Given the description of an element on the screen output the (x, y) to click on. 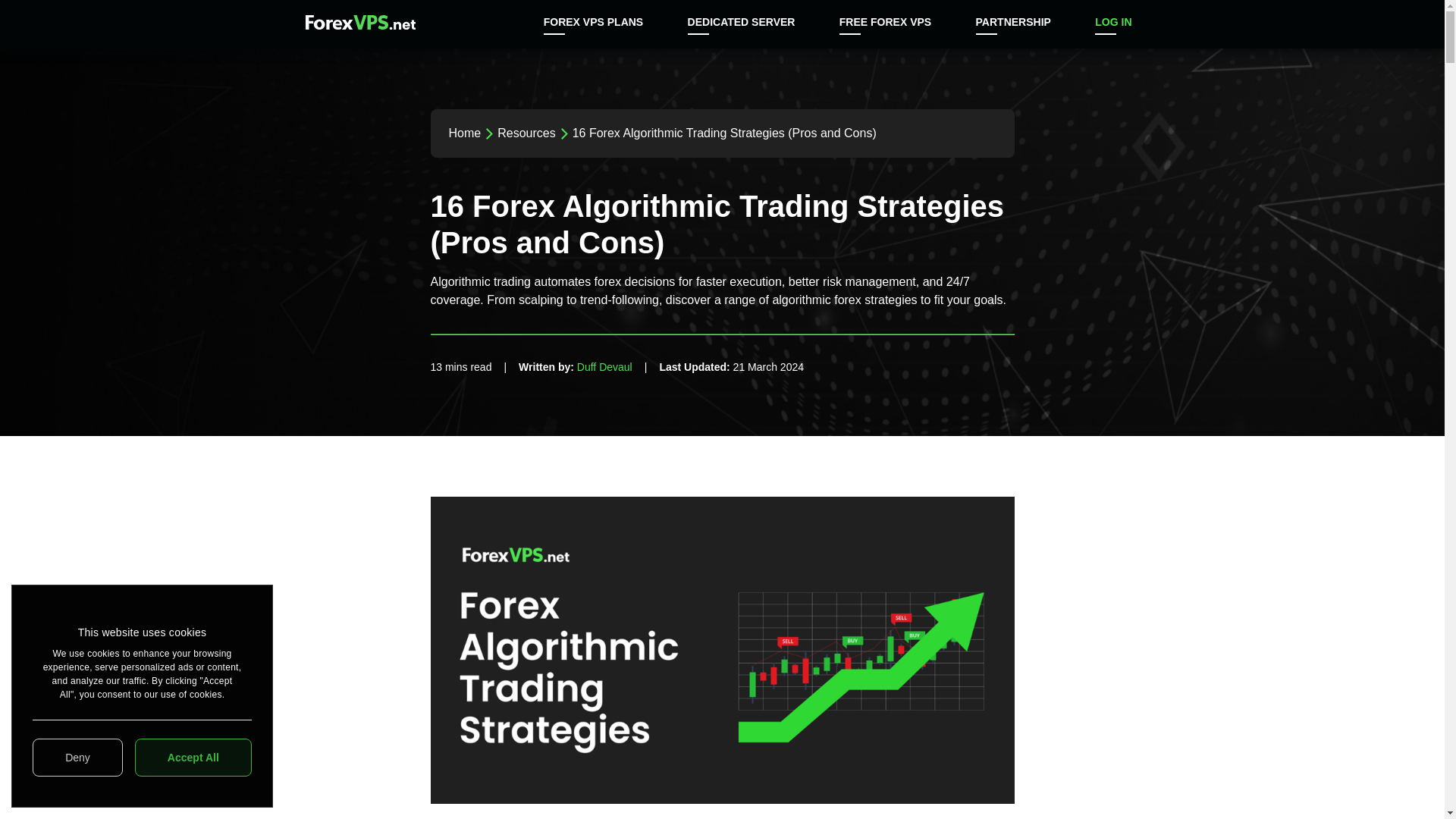
Go to ForexVPS.net (464, 132)
Go to Resources (525, 132)
LOG IN (1112, 23)
Home (464, 132)
FOREX VPS PLANS (592, 23)
Resources (525, 132)
DEDICATED SERVER (741, 23)
FREE FOREX VPS (885, 23)
Duff Devaul (603, 367)
